Given the description of an element on the screen output the (x, y) to click on. 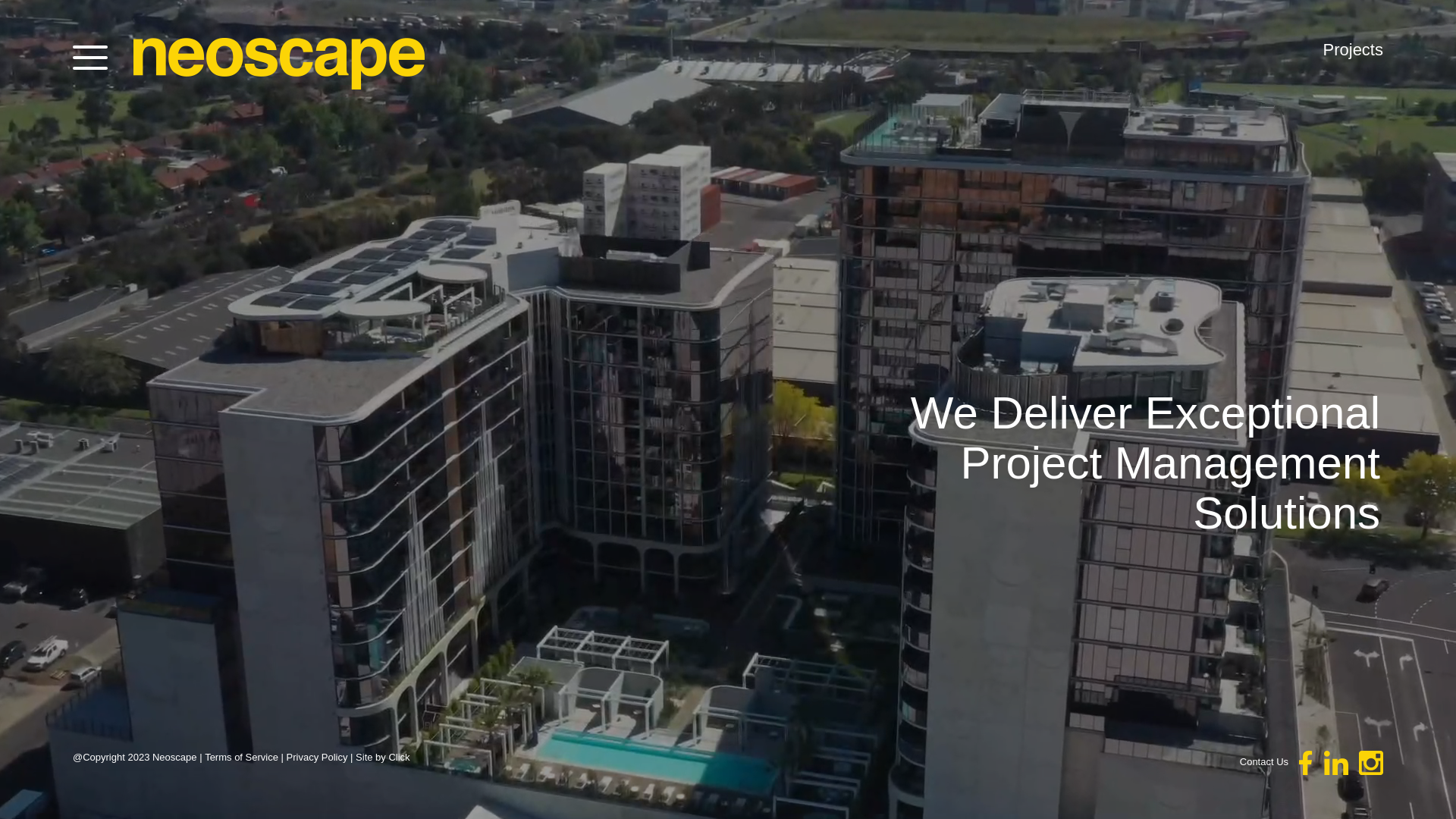
Site by Click Element type: text (382, 756)
Terms of Service Element type: text (241, 756)
Projects Element type: text (1353, 49)
Privacy Policy Element type: text (317, 756)
Contact Us Element type: text (1263, 761)
